Given the description of an element on the screen output the (x, y) to click on. 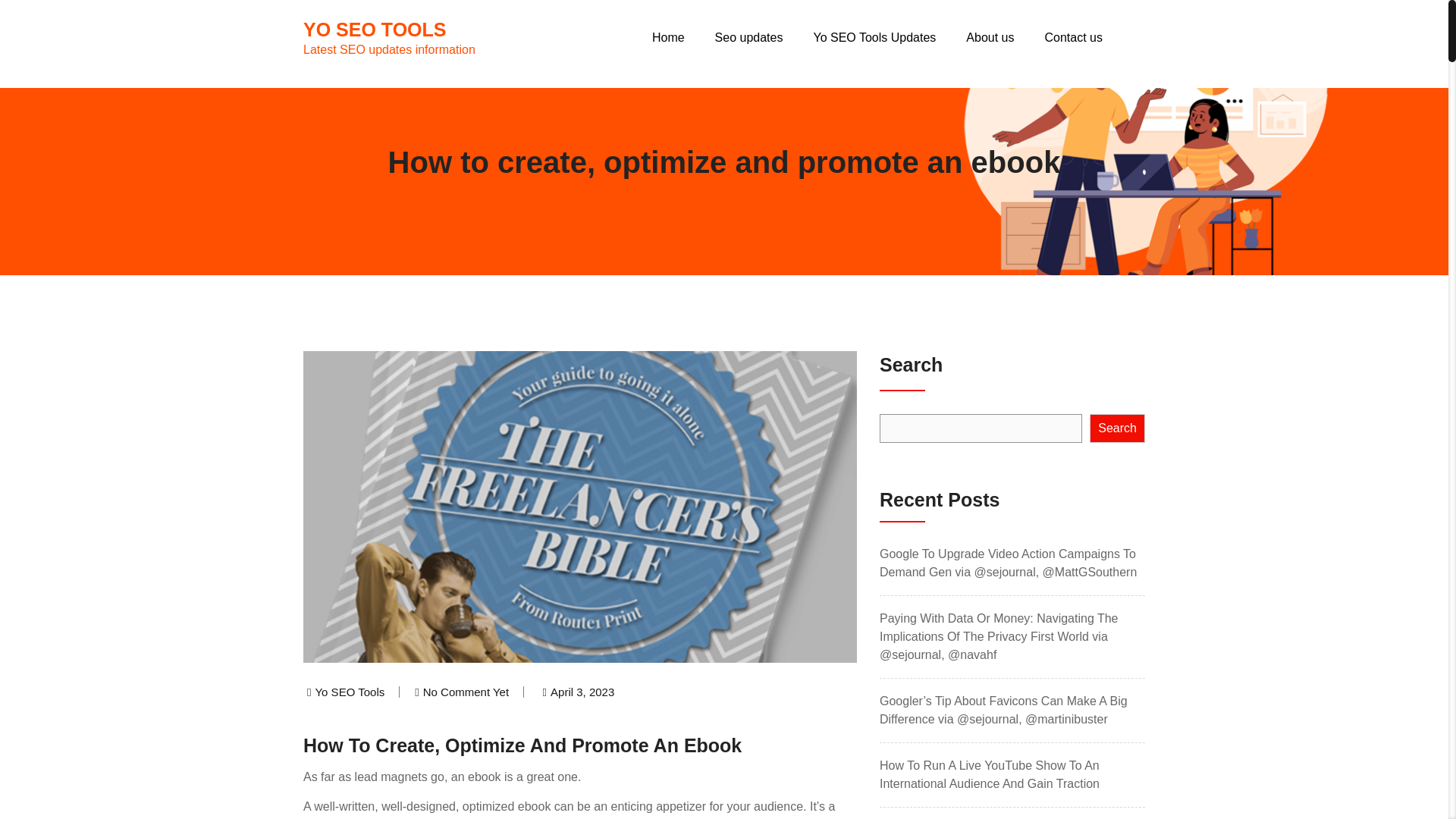
Yo SEO Tools (349, 691)
Yo SEO Tools Updates (874, 37)
No Comment Yet (465, 691)
Contact us (1073, 37)
April 3, 2023 (389, 38)
Search (582, 691)
Seo updates (1116, 428)
About us (748, 37)
